Given the description of an element on the screen output the (x, y) to click on. 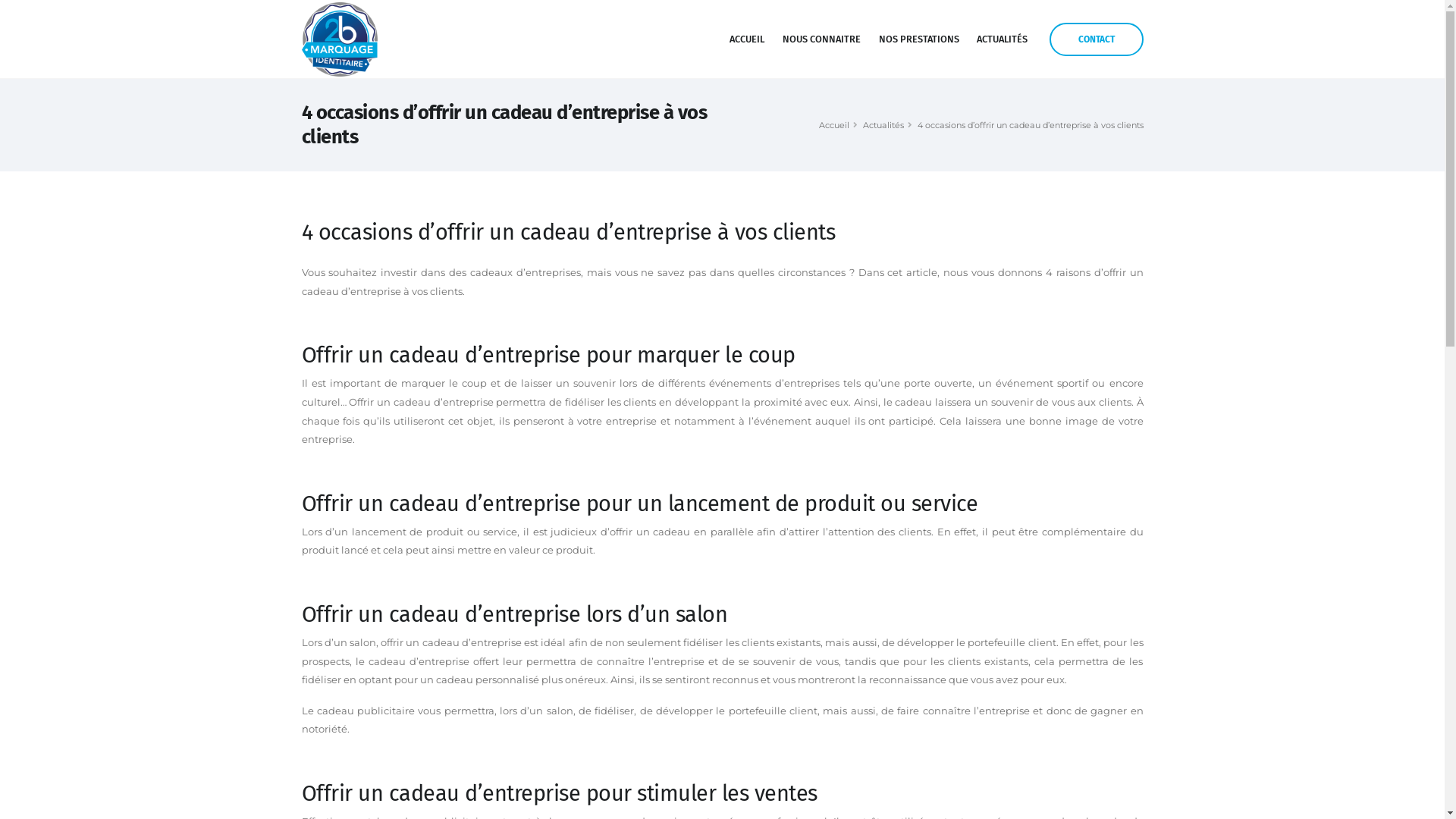
NOUS CONNAITRE Element type: text (821, 39)
CONTACT Element type: text (1095, 39)
Accueil Element type: text (834, 124)
ACCUEIL Element type: text (746, 39)
NOS PRESTATIONS Element type: text (918, 39)
